Given the description of an element on the screen output the (x, y) to click on. 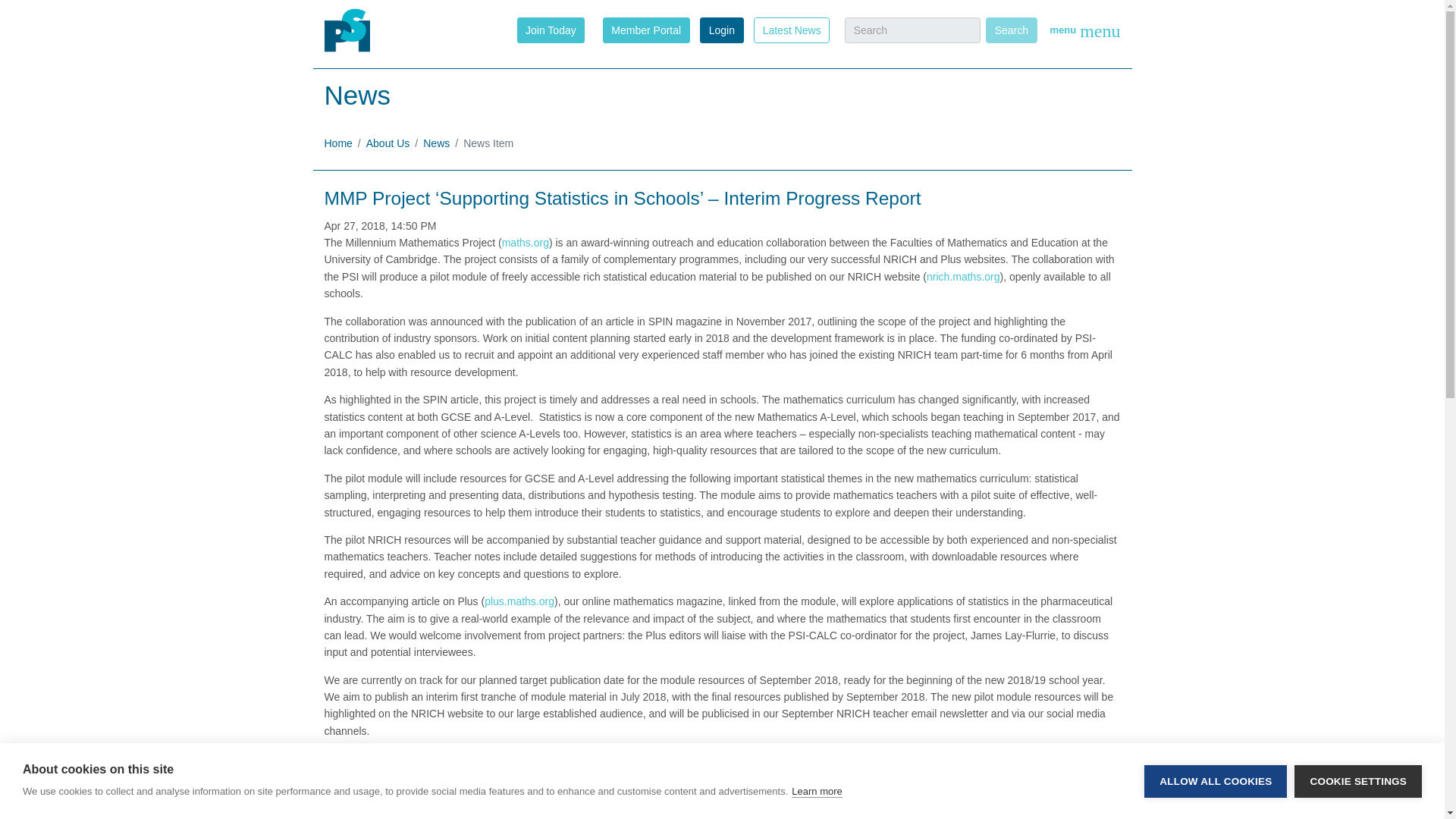
Search (1010, 30)
Latest News (791, 29)
Search input (911, 30)
Join Today (550, 29)
Login (721, 30)
Member Portal (646, 29)
